Given the description of an element on the screen output the (x, y) to click on. 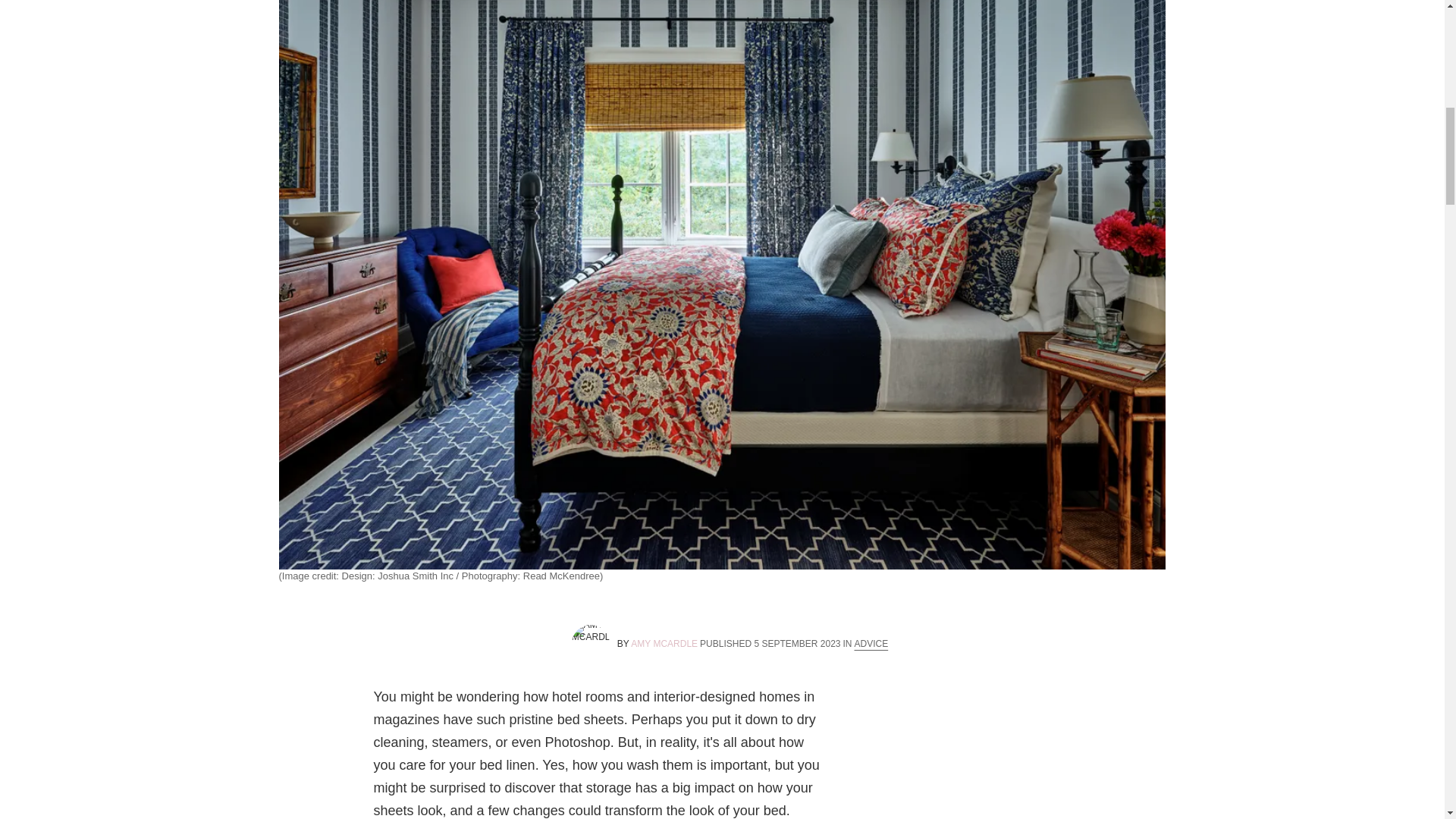
AMY MCARDLE (663, 643)
